Given the description of an element on the screen output the (x, y) to click on. 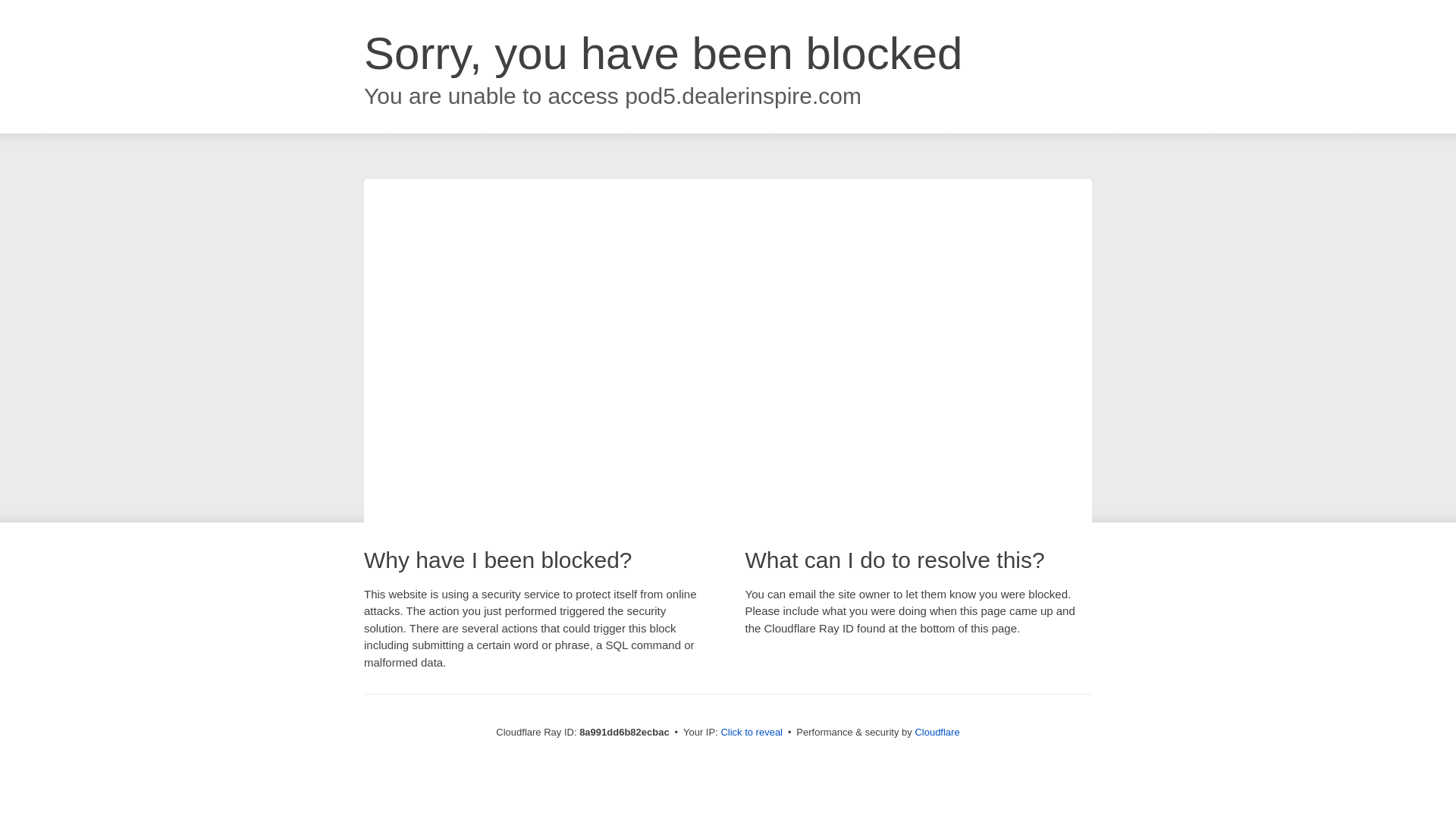
Click to reveal (751, 732)
Cloudflare (936, 731)
